Given the description of an element on the screen output the (x, y) to click on. 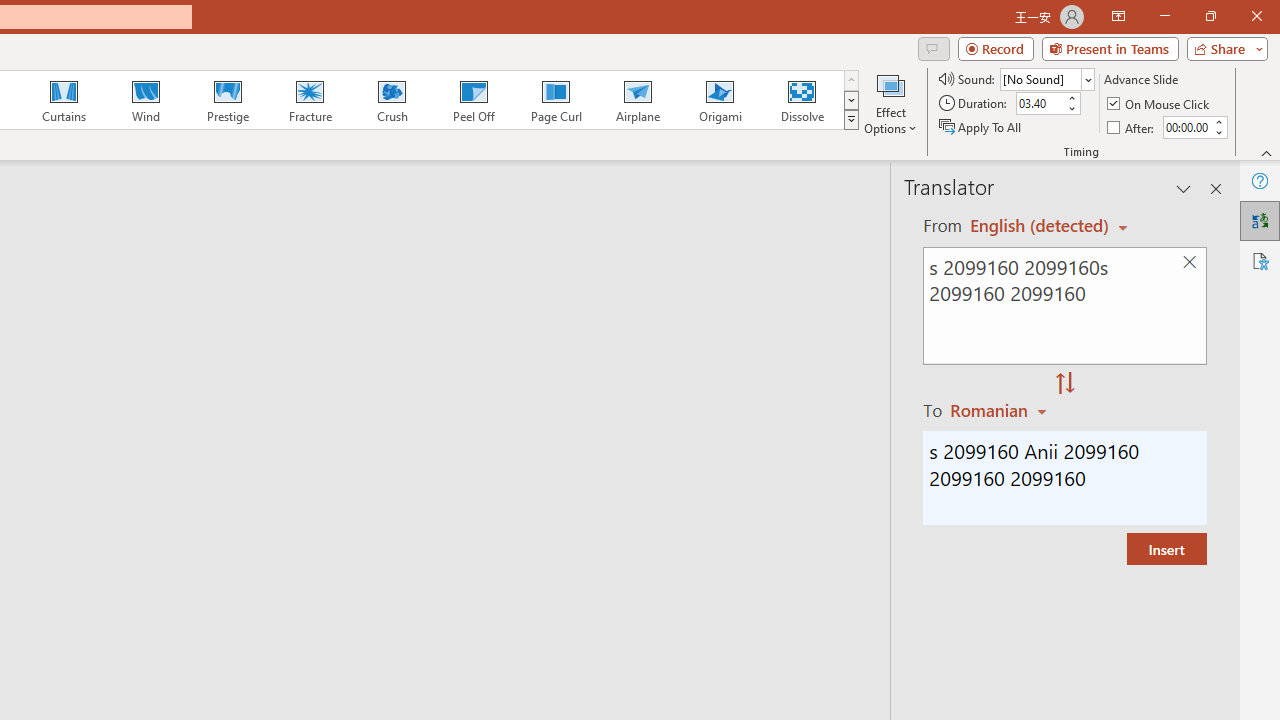
Page Curl (555, 100)
Czech (detected) (1039, 225)
Dissolve (802, 100)
Wind (145, 100)
Fracture (309, 100)
Prestige (227, 100)
Duration (1039, 103)
